Given the description of an element on the screen output the (x, y) to click on. 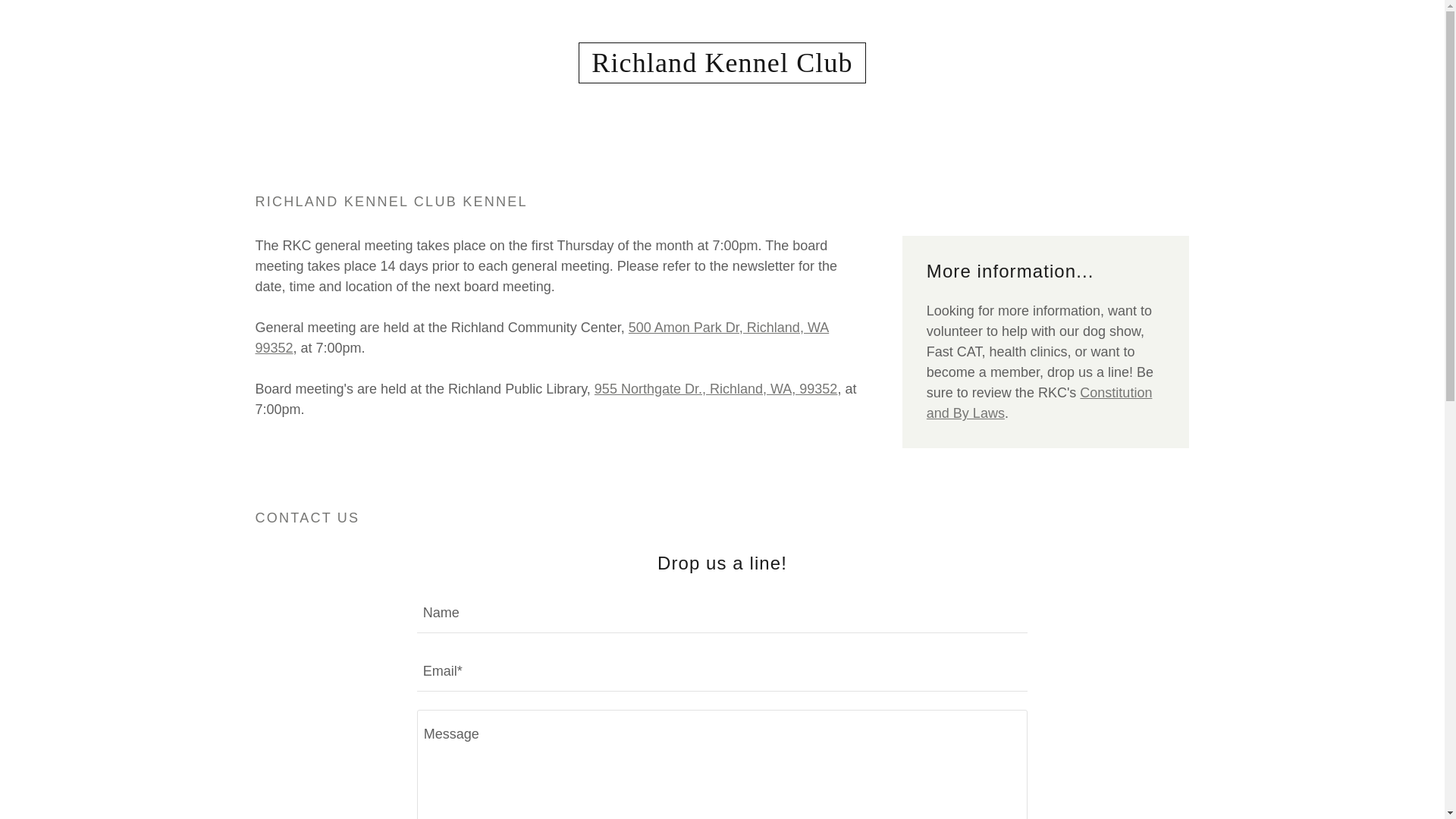
Constitution and By Laws (1039, 402)
Richland Kennel Club (721, 67)
500 Amon Park Dr, Richland, WA 99352 (541, 337)
Richland Kennel Club (721, 67)
955 Northgate Dr., Richland, WA, 99352 (716, 388)
